Given the description of an element on the screen output the (x, y) to click on. 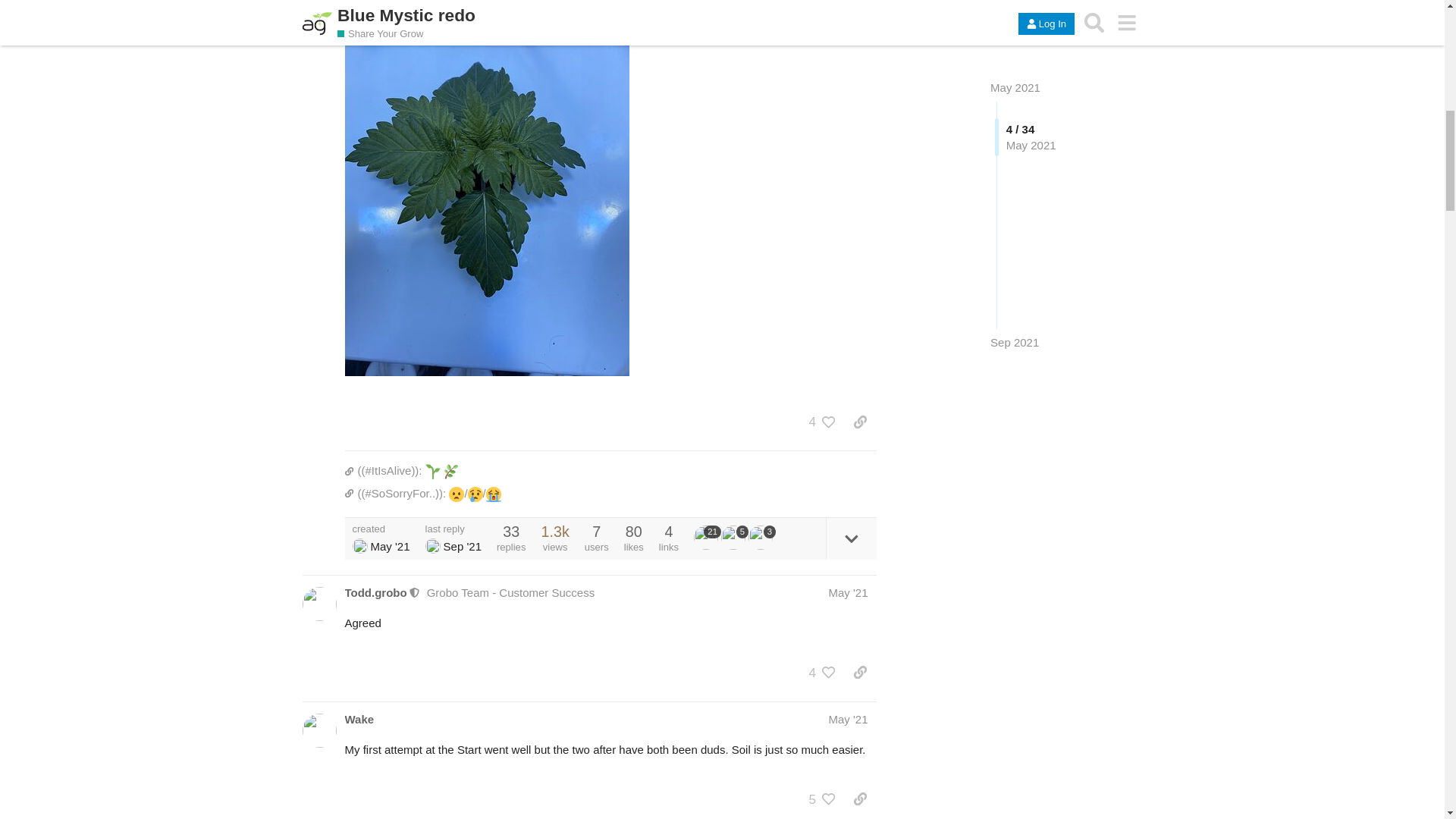
frowning (456, 494)
share a link to this post (860, 421)
last reply (453, 528)
like this post (829, 421)
herb (451, 471)
seedling (433, 471)
